Given the description of an element on the screen output the (x, y) to click on. 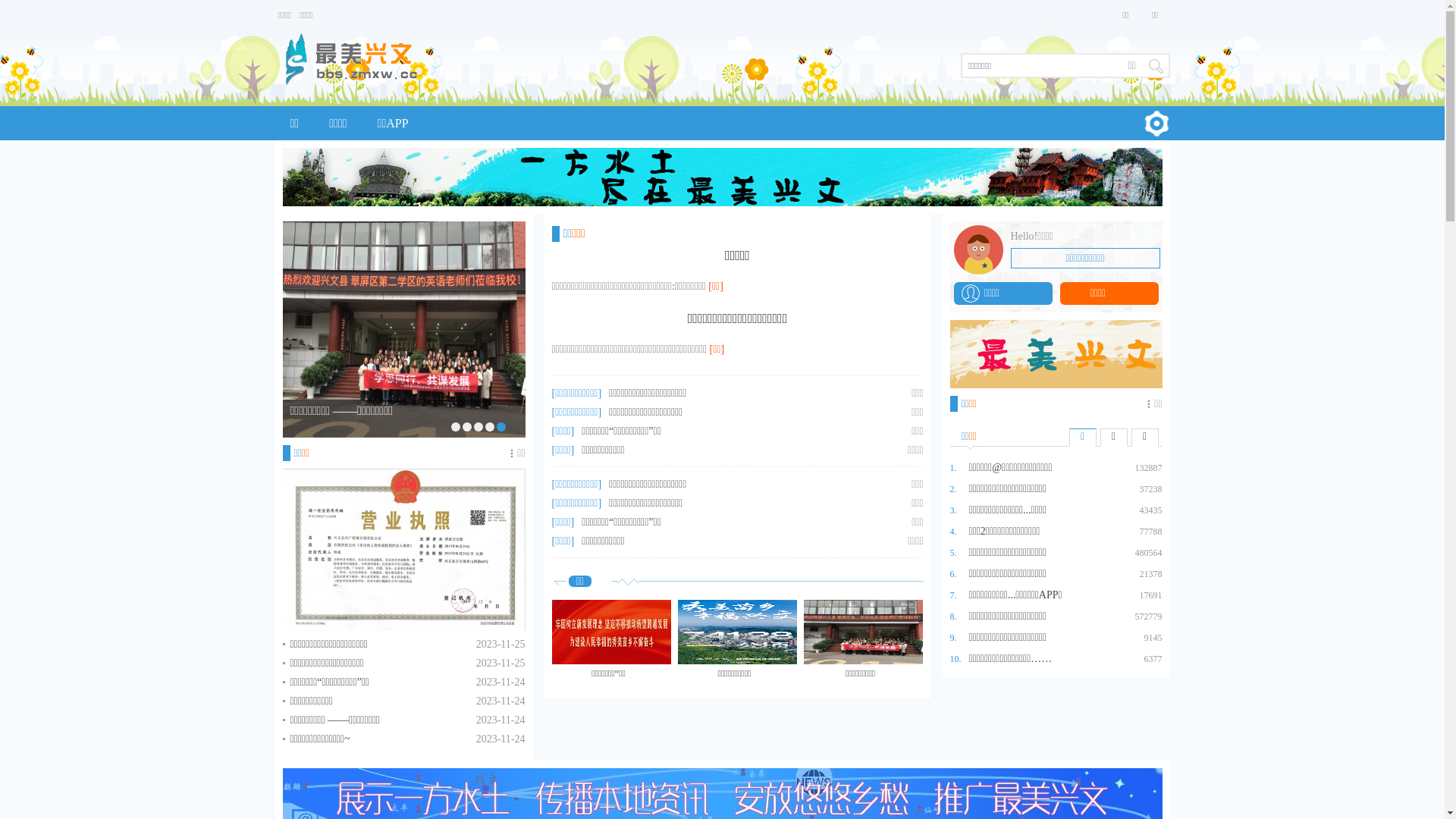
   Element type: text (1155, 65)
